Given the description of an element on the screen output the (x, y) to click on. 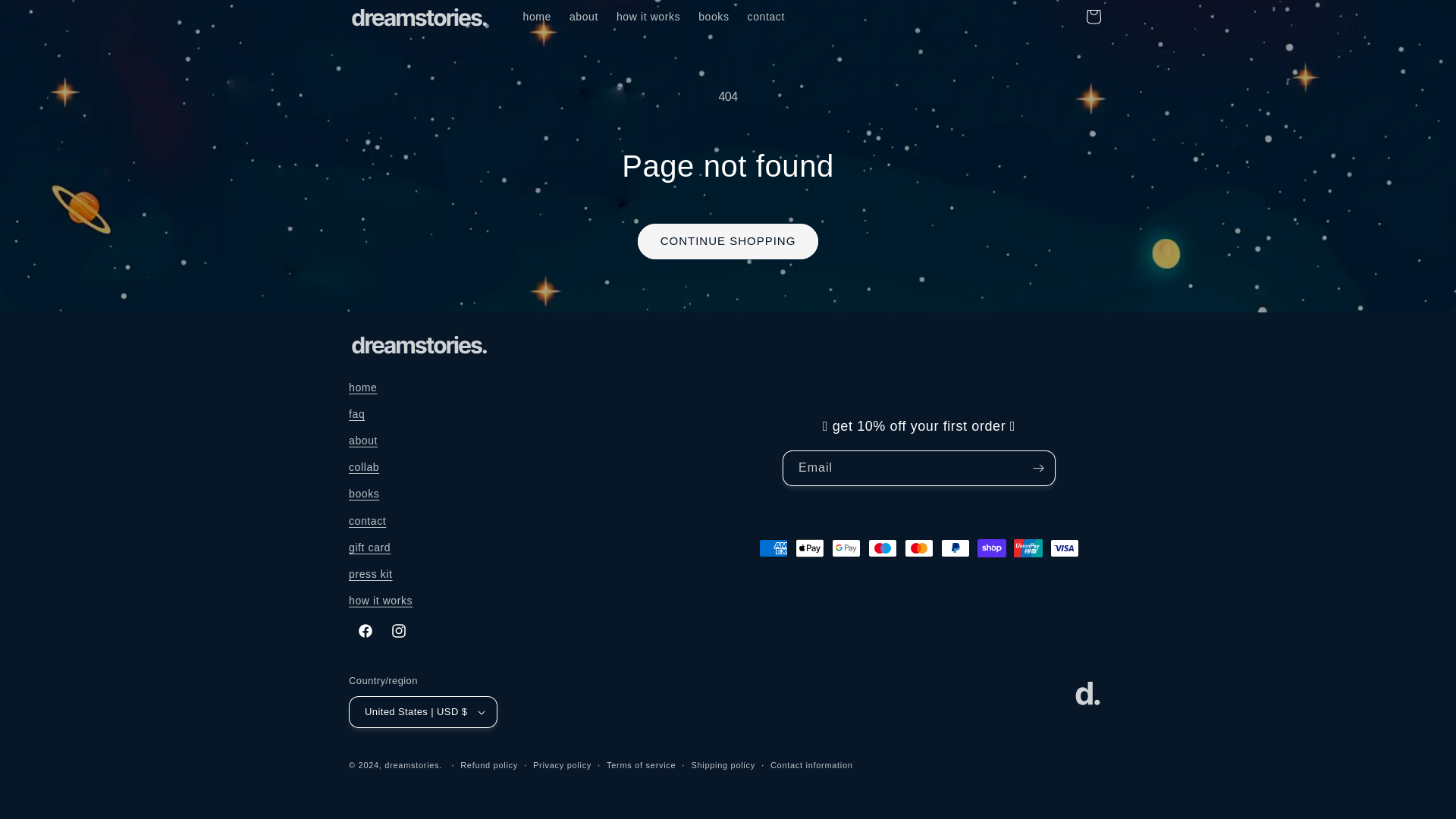
Facebook (365, 630)
Shipping policy (722, 765)
dreamstories. (413, 764)
home (363, 389)
contact (765, 16)
collab (363, 467)
home (536, 16)
CONTINUE SHOPPING (727, 241)
books (363, 493)
Contact information (811, 765)
Instagram (397, 630)
Cart (1093, 16)
gift card (369, 547)
about (363, 440)
about (583, 16)
